Given the description of an element on the screen output the (x, y) to click on. 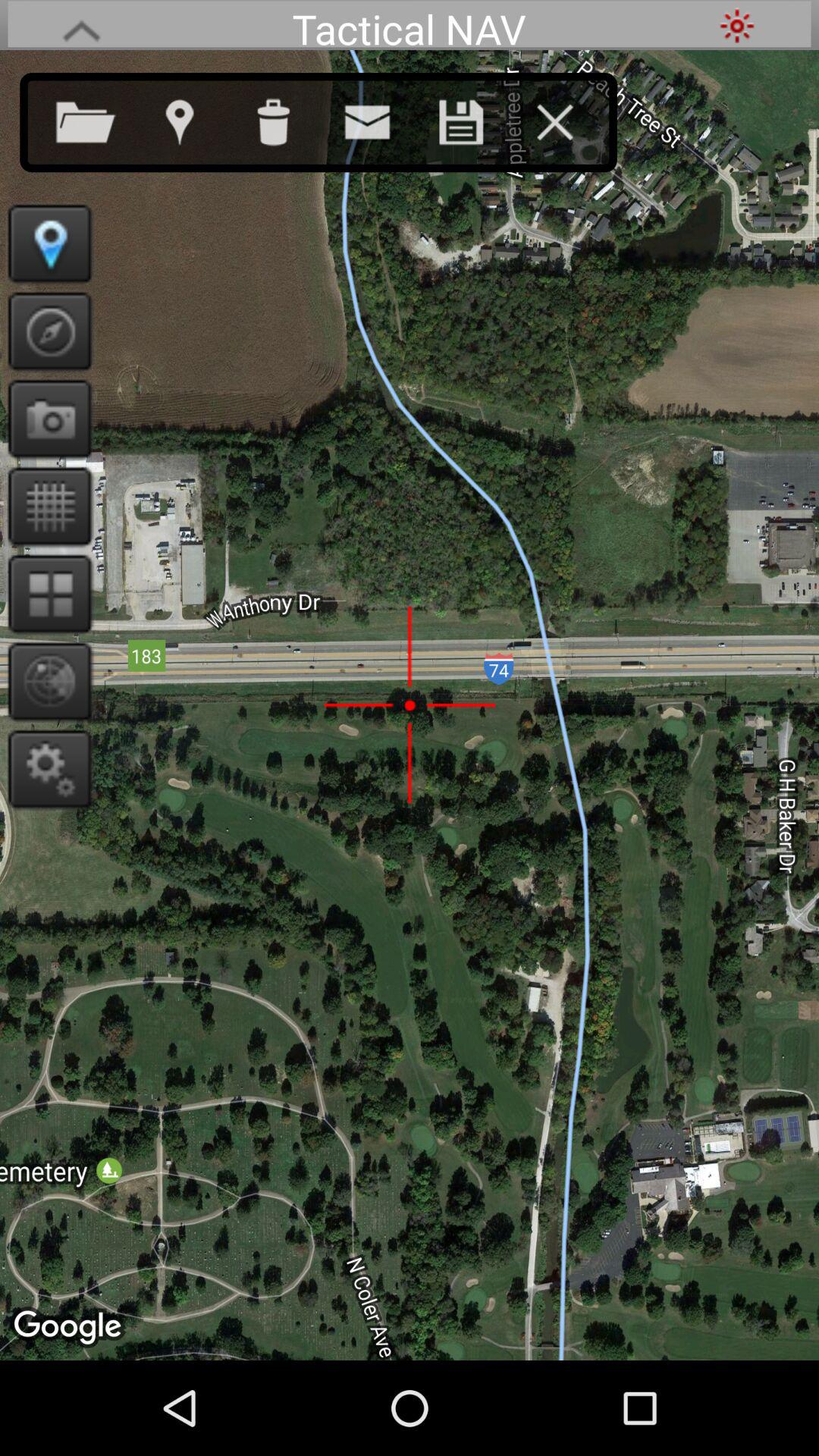
search closely (45, 681)
